Given the description of an element on the screen output the (x, y) to click on. 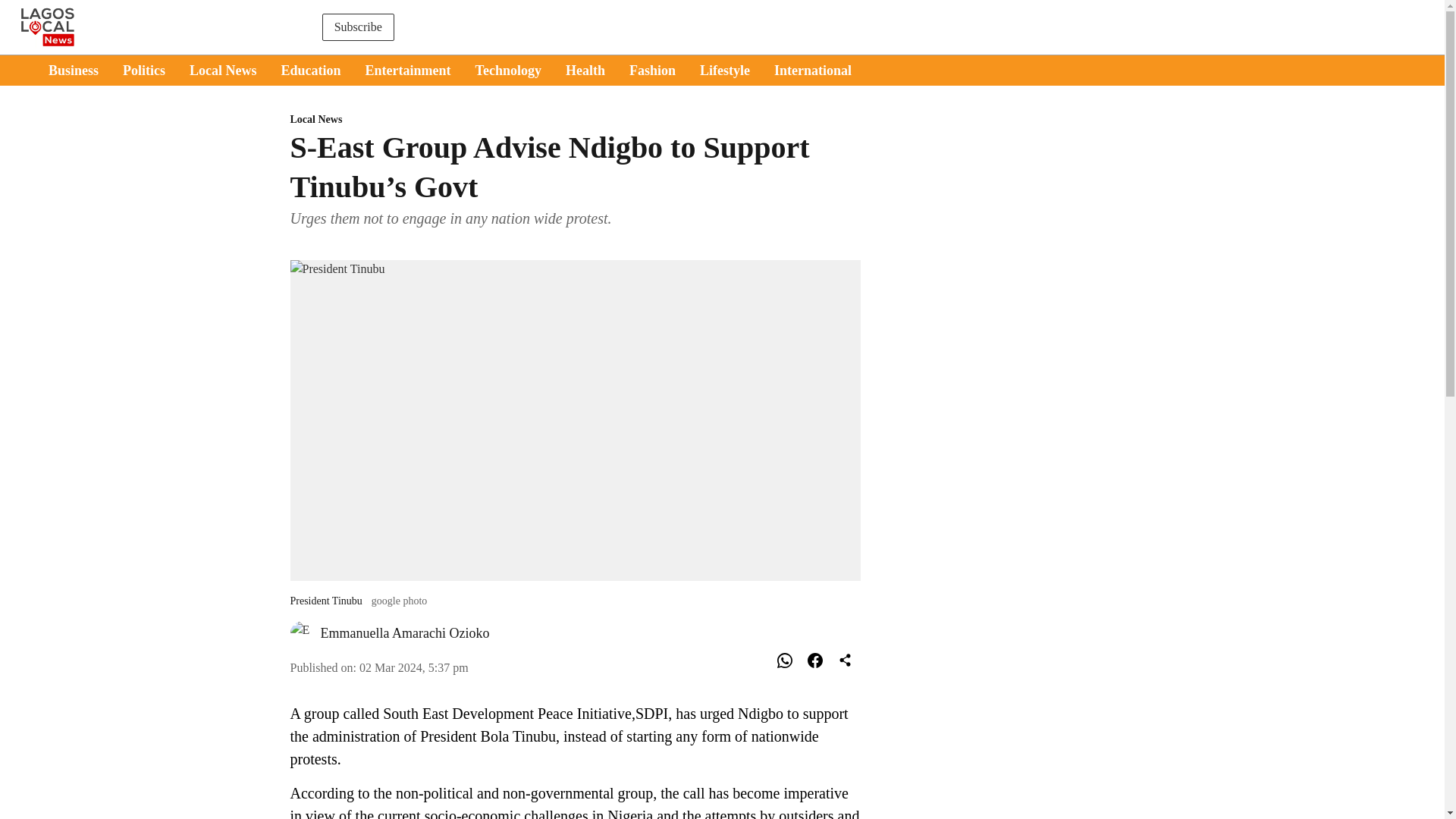
Technology (508, 70)
Health (585, 70)
Education (310, 70)
Local News (574, 119)
Business (73, 70)
Politics (143, 70)
2024-03-02 09:37 (413, 667)
Entertainment (408, 70)
International (812, 70)
Local News (223, 70)
Emmanuella Amarachi Ozioko (404, 632)
Lifestyle (724, 70)
Fashion (651, 70)
